Given the description of an element on the screen output the (x, y) to click on. 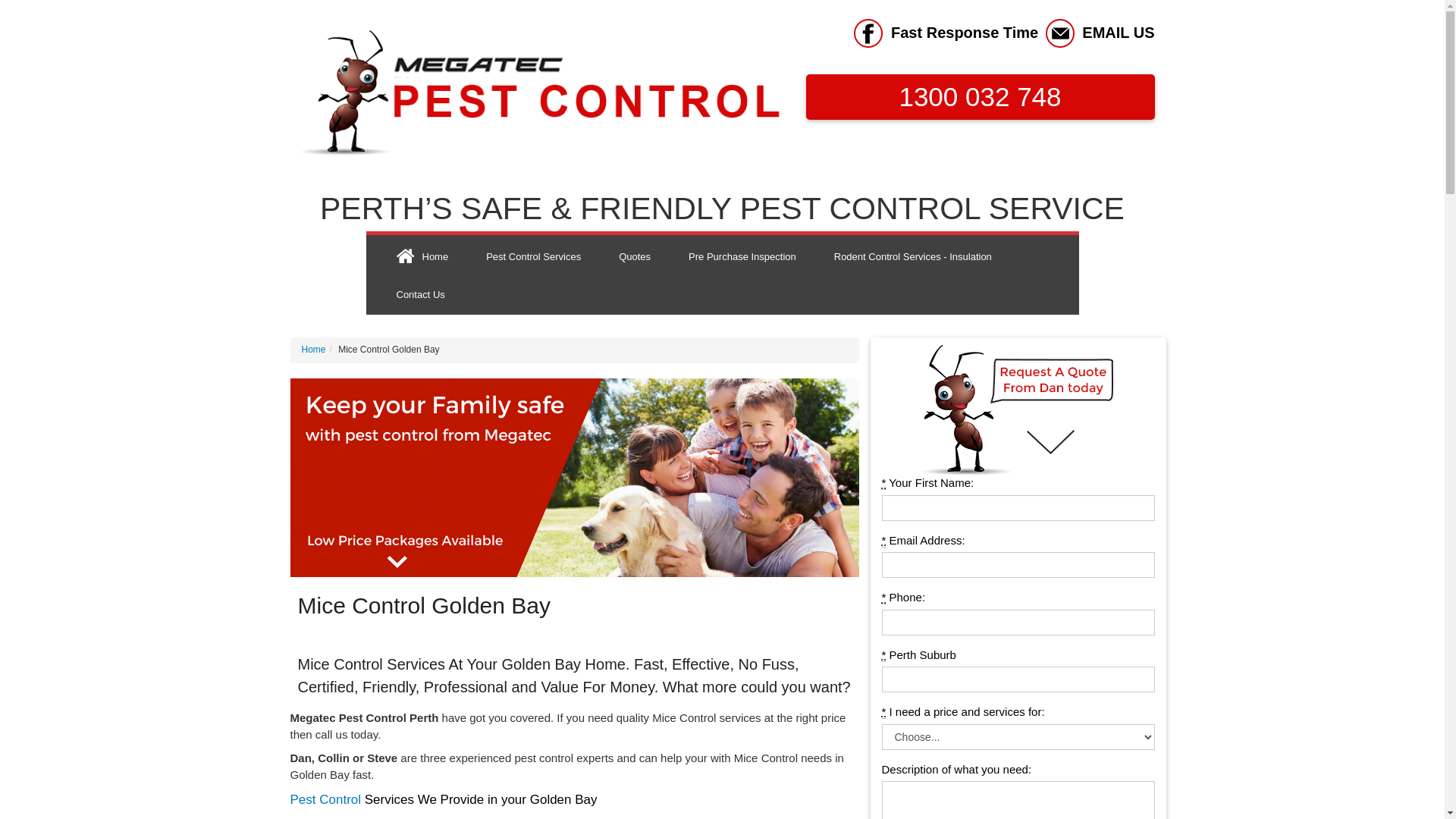
1300 032 748 Element type: text (979, 96)
Contact Us Element type: text (420, 294)
Home Element type: text (422, 256)
Home Element type: text (313, 349)
Pest Control Element type: text (324, 799)
Rodent Control Services - Insulation Element type: text (912, 256)
Pre Purchase Inspection Element type: text (742, 256)
MTS Pest Control Element type: hover (542, 93)
Quotes Element type: text (634, 256)
EMAIL US Element type: text (1118, 32)
Pest Control Services Element type: text (533, 256)
